Given the description of an element on the screen output the (x, y) to click on. 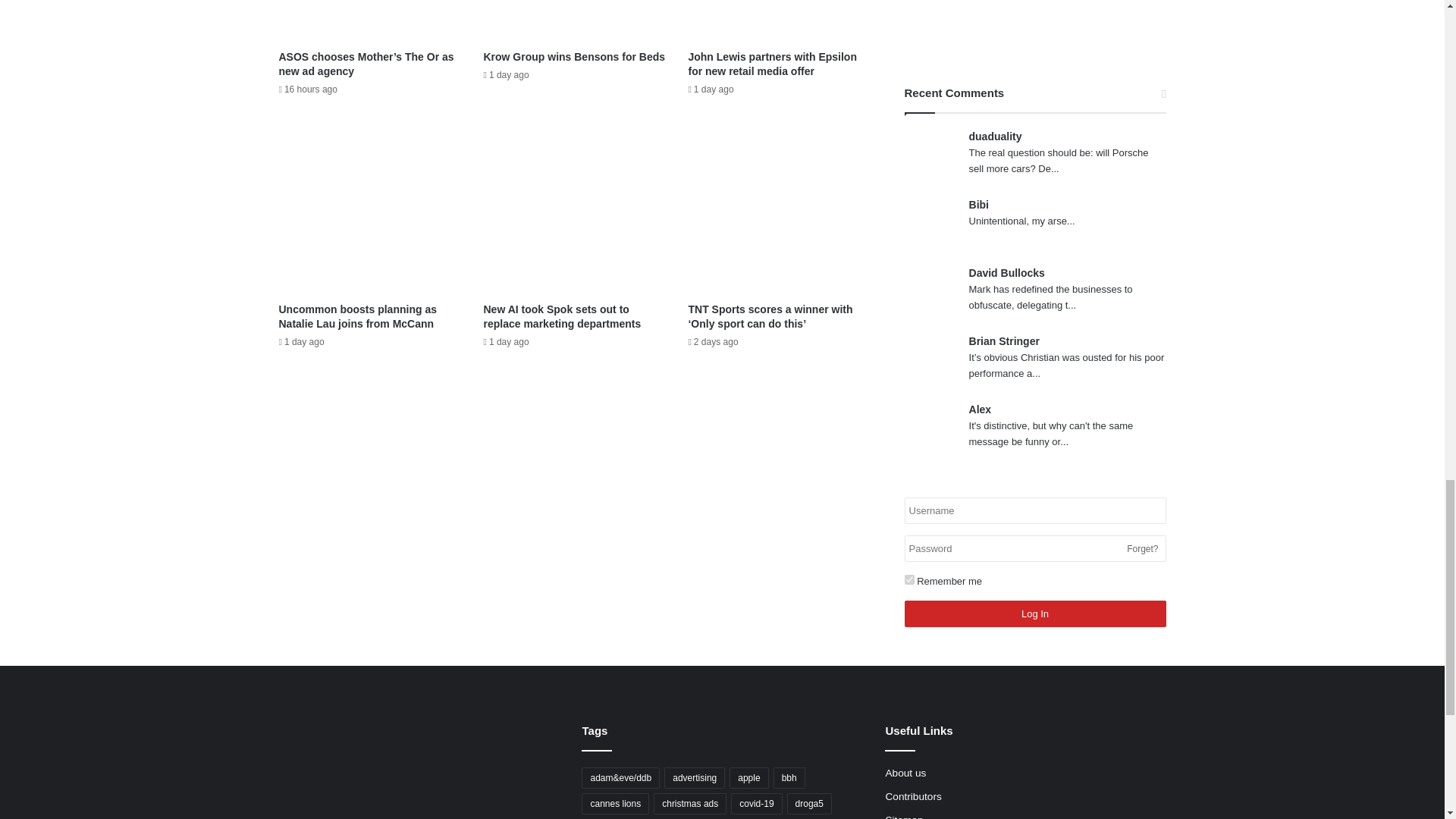
forever (909, 579)
Username (1035, 510)
Password (1035, 548)
